Given the description of an element on the screen output the (x, y) to click on. 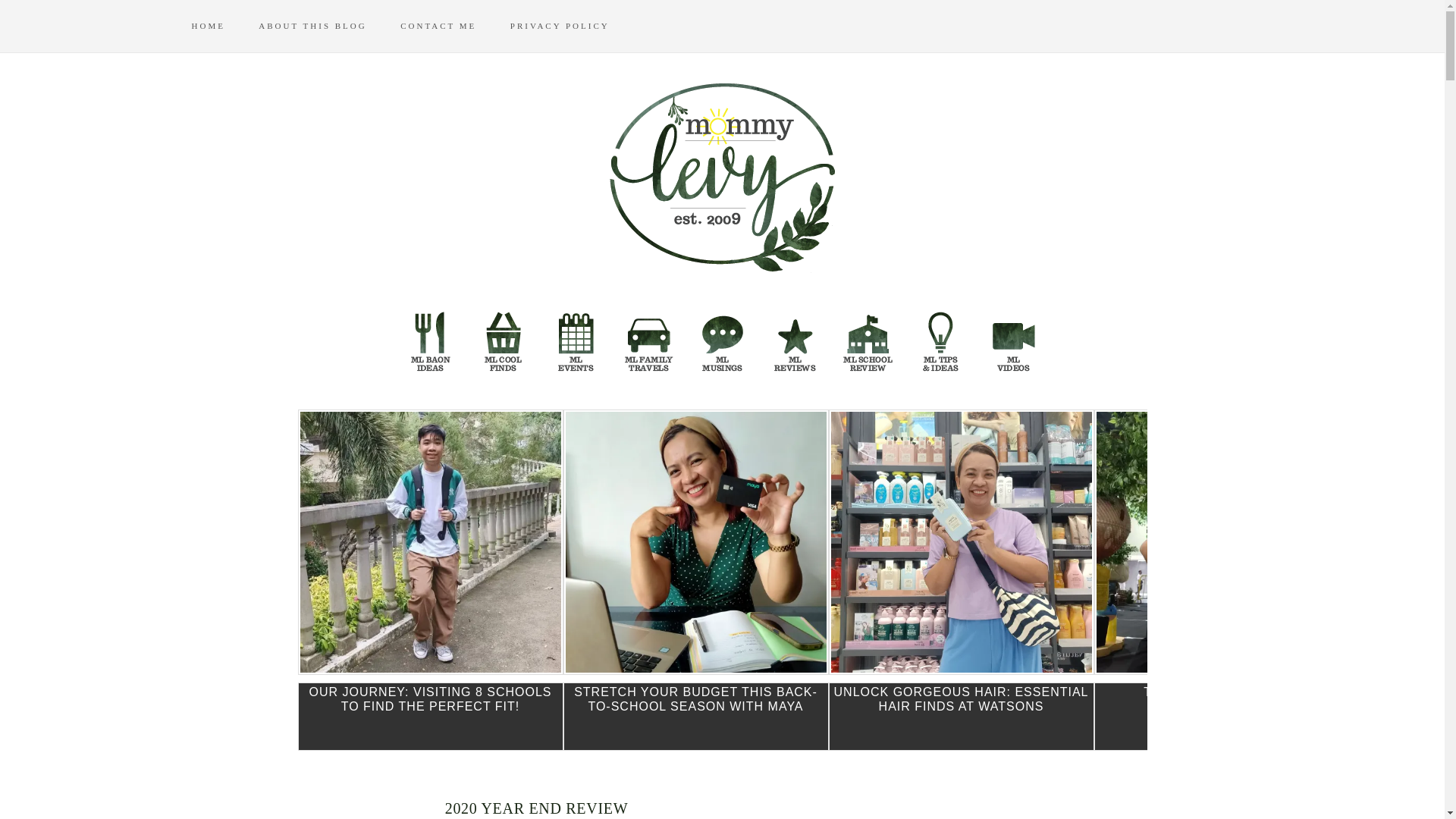
UNLOCK GORGEOUS HAIR: ESSENTIAL HAIR FINDS AT WATSONS (960, 716)
ABOUT THIS BLOG (327, 26)
TOYCON 2024 OVERVIEW (164, 716)
OUR JOURNEY: VISITING 8 SCHOOLS TO FIND THE PERFECT FIT! (429, 716)
CONTACT ME (452, 26)
PRIVACY POLICY (575, 26)
STRETCH YOUR BUDGET THIS BACK-TO-SCHOOL SEASON WITH MAYA (695, 716)
TOYCON 2024 OVERVIEW (1225, 716)
HOME (221, 26)
